Given the description of an element on the screen output the (x, y) to click on. 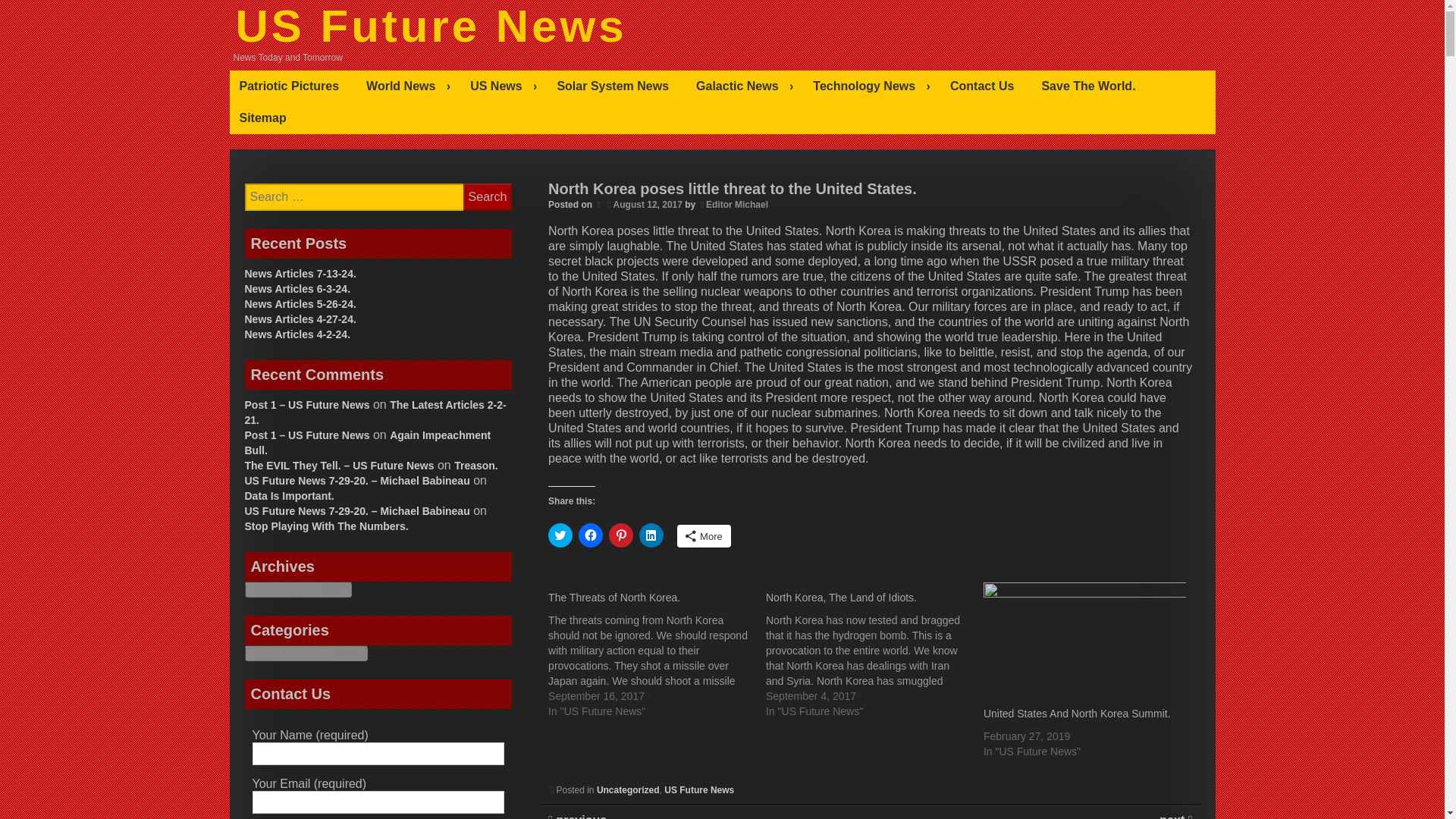
World News (408, 86)
Search (487, 196)
Click to share on Pinterest (620, 535)
Patriotic Pictures (292, 86)
North Korea, The Land of Idiots. (874, 650)
Click to share on Facebook (590, 535)
US Future News (430, 25)
The Threats of North Korea. (613, 597)
United States And North Korea Summit. (1077, 713)
Search (487, 196)
The Threats of North Korea. (656, 650)
North Korea, The Land of Idiots. (841, 597)
Click to share on LinkedIn (651, 535)
Click to share on Twitter (560, 535)
United States And North Korea Summit. (1085, 640)
